Given the description of an element on the screen output the (x, y) to click on. 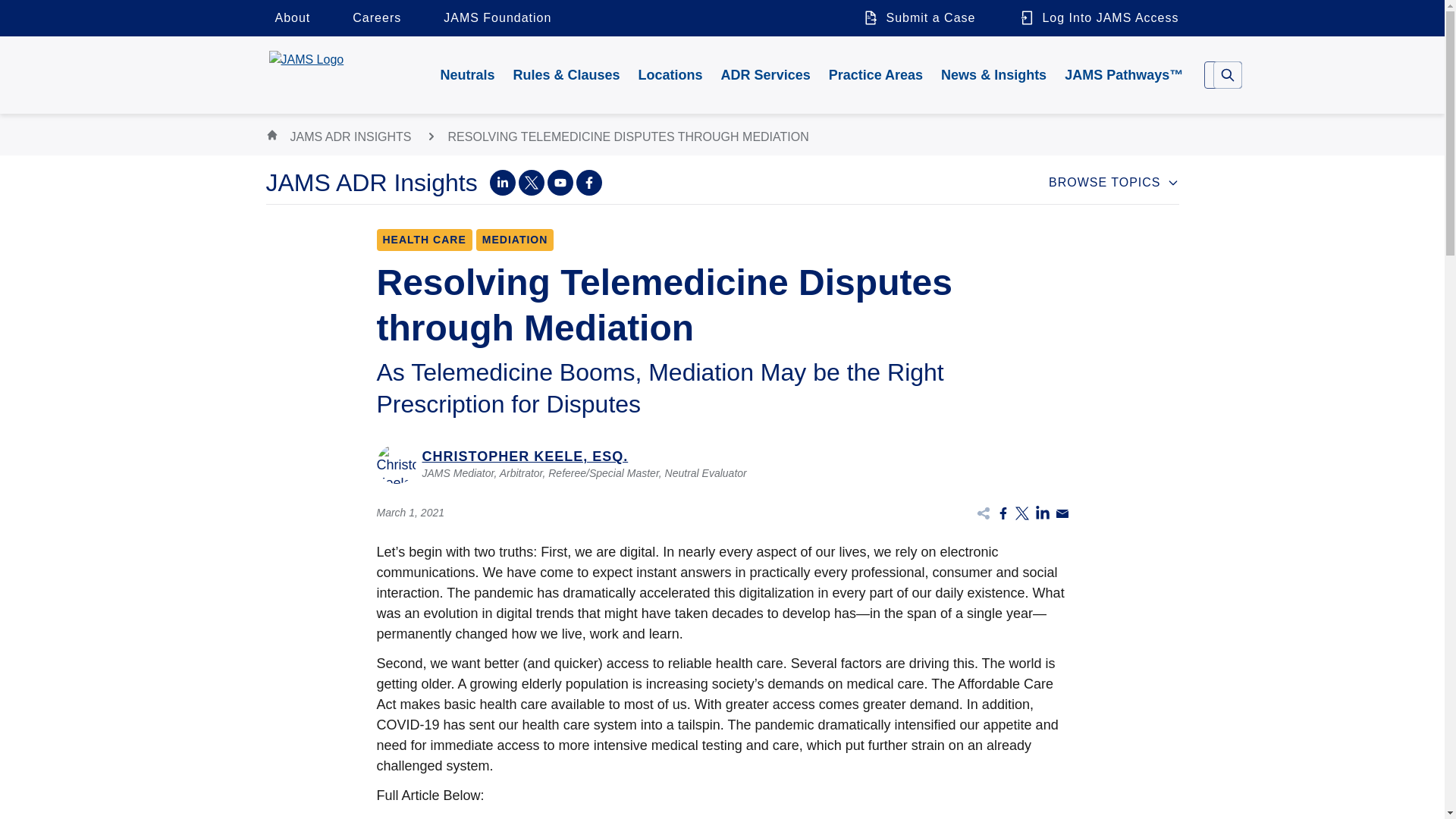
LinkedIn (502, 182)
JAMS Foundation (496, 18)
YouTube (560, 182)
Facebook (589, 182)
About (291, 18)
Neutrals (466, 74)
JAMS Home (343, 73)
Christopher Keele, Esq. Profile (721, 464)
Log Into JAMS Access (1093, 18)
Twitter (531, 182)
Submit a Case (917, 18)
Careers (376, 18)
